Given the description of an element on the screen output the (x, y) to click on. 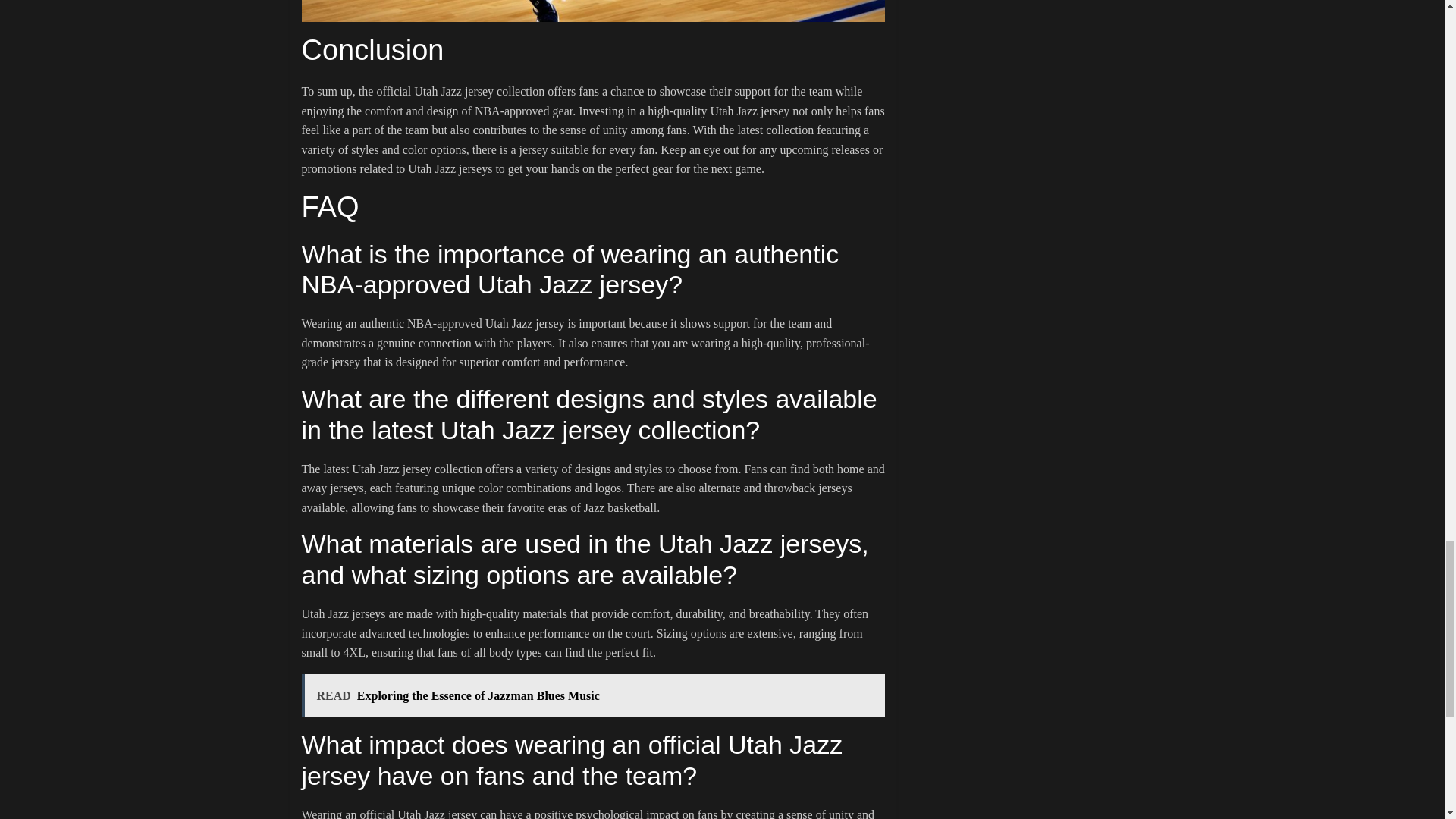
READ  Exploring the Essence of Jazzman Blues Music (593, 696)
Utah Jazz Gear (593, 11)
